Given the description of an element on the screen output the (x, y) to click on. 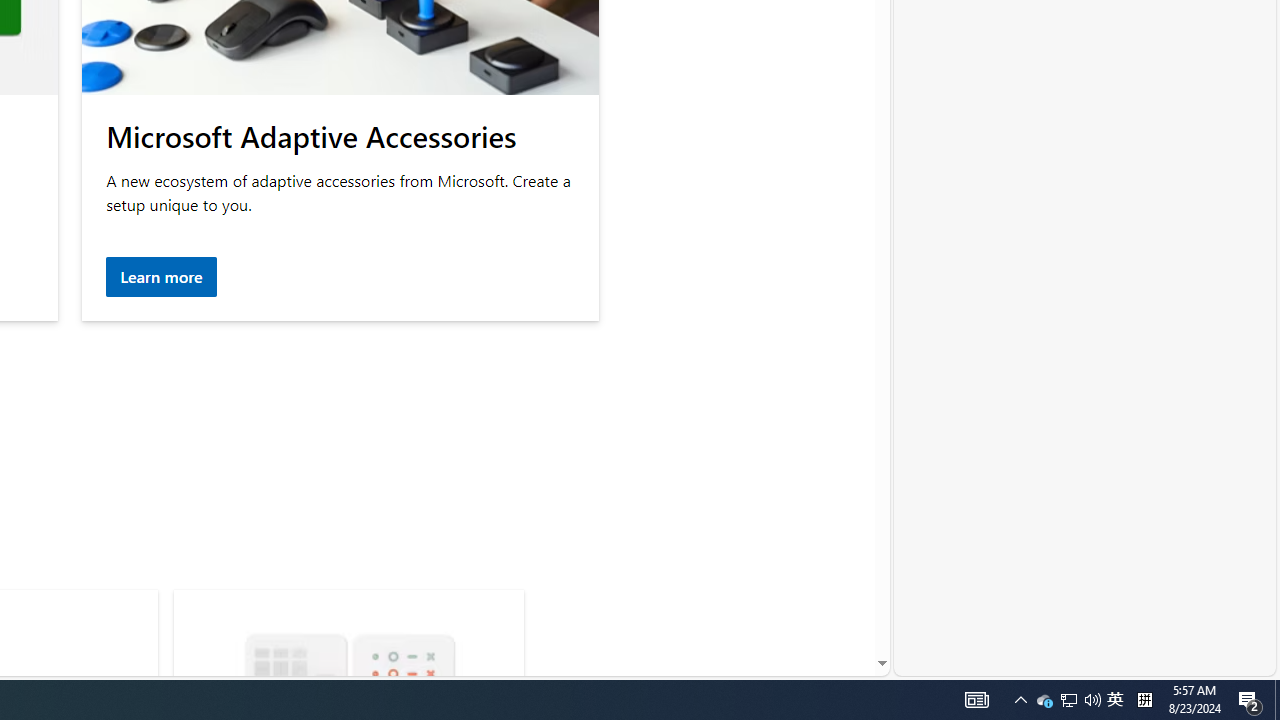
Learn more Microsoft Adaptive Accessories (161, 277)
